Given the description of an element on the screen output the (x, y) to click on. 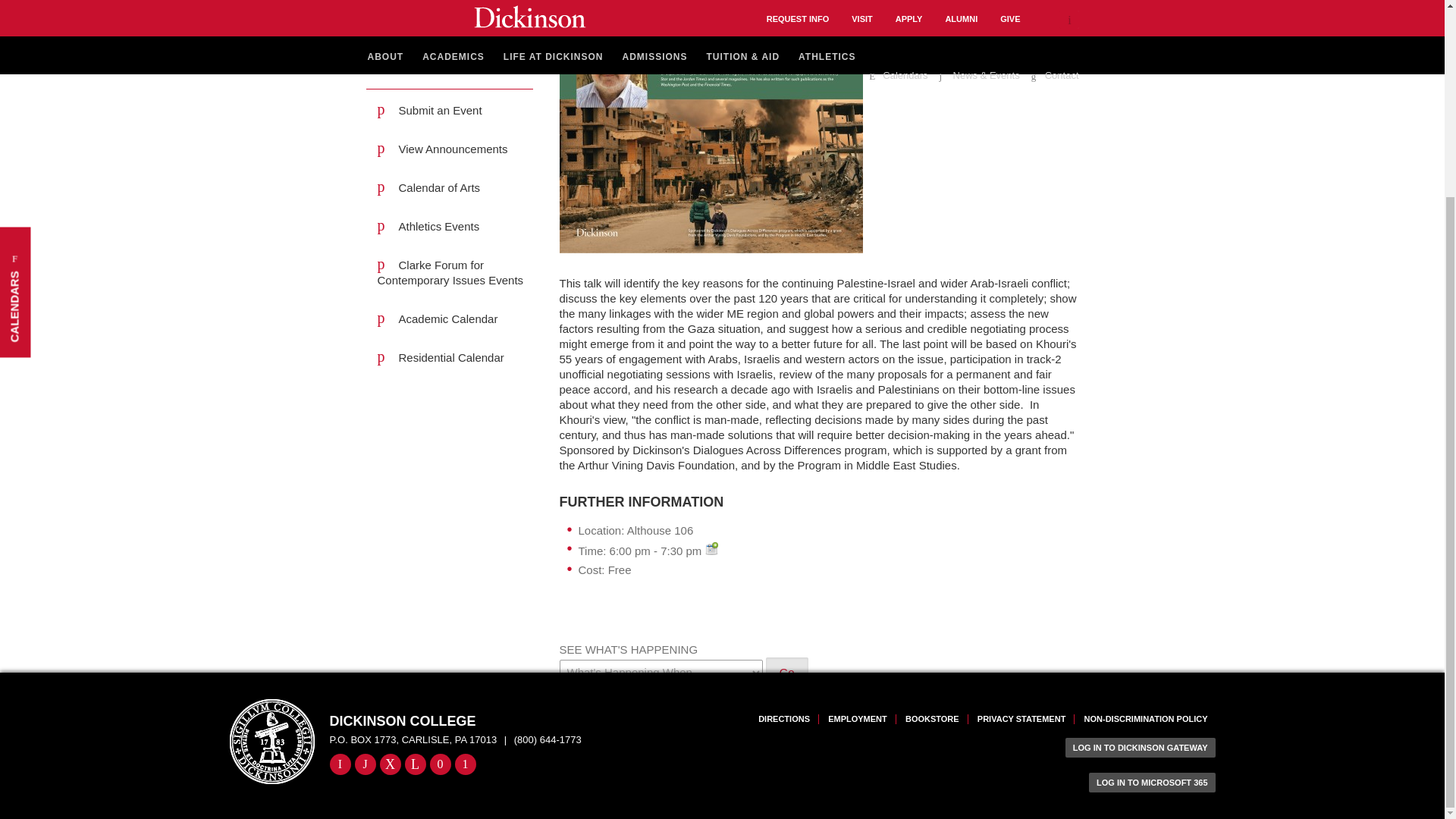
Go (786, 740)
CALENDARS (65, 4)
Go (786, 672)
